Given the description of an element on the screen output the (x, y) to click on. 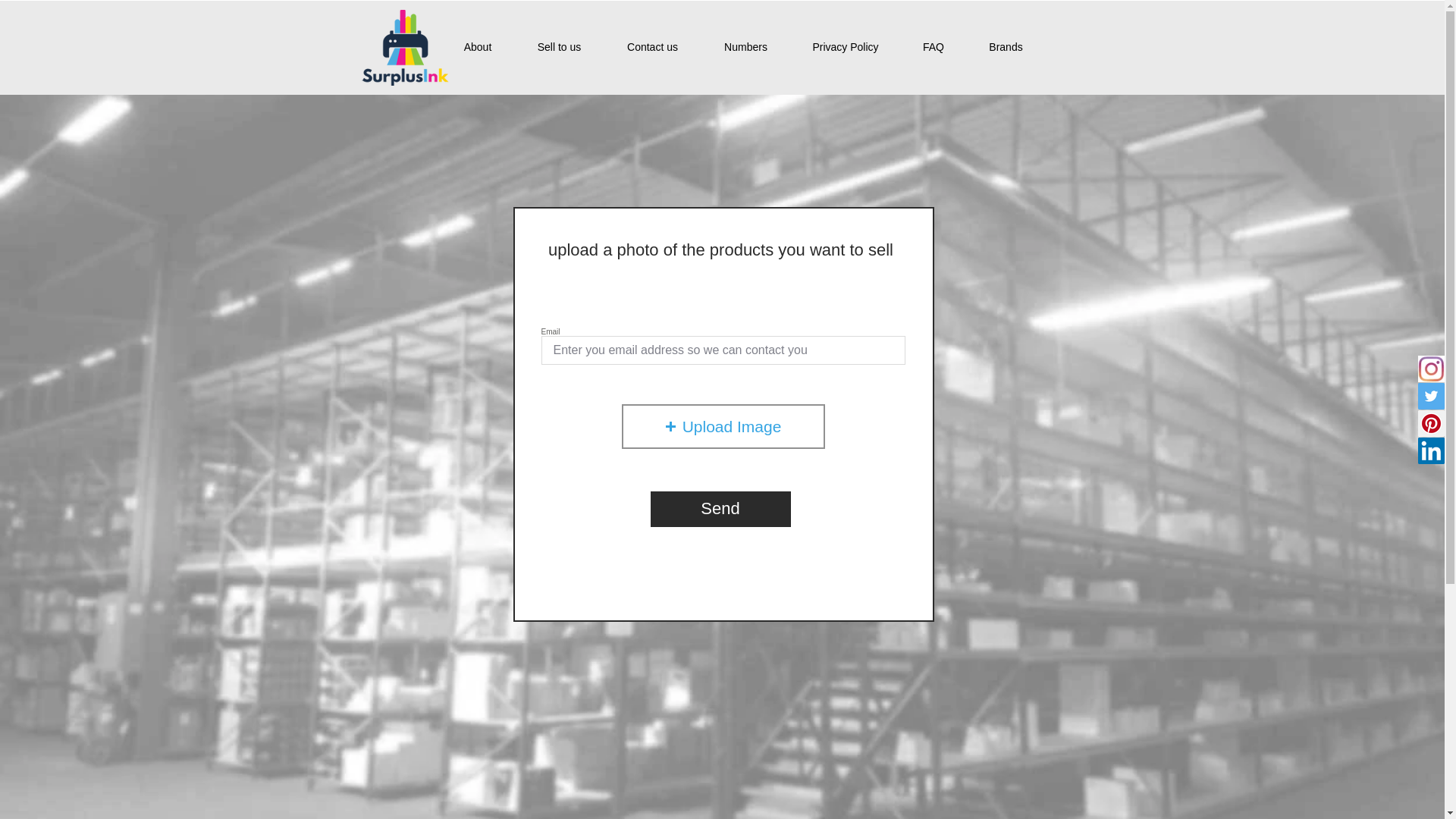
Contact us (652, 47)
Send (720, 509)
Sell to us (558, 47)
Privacy Policy (844, 47)
Numbers (745, 47)
FAQ (933, 47)
About (478, 47)
